Given the description of an element on the screen output the (x, y) to click on. 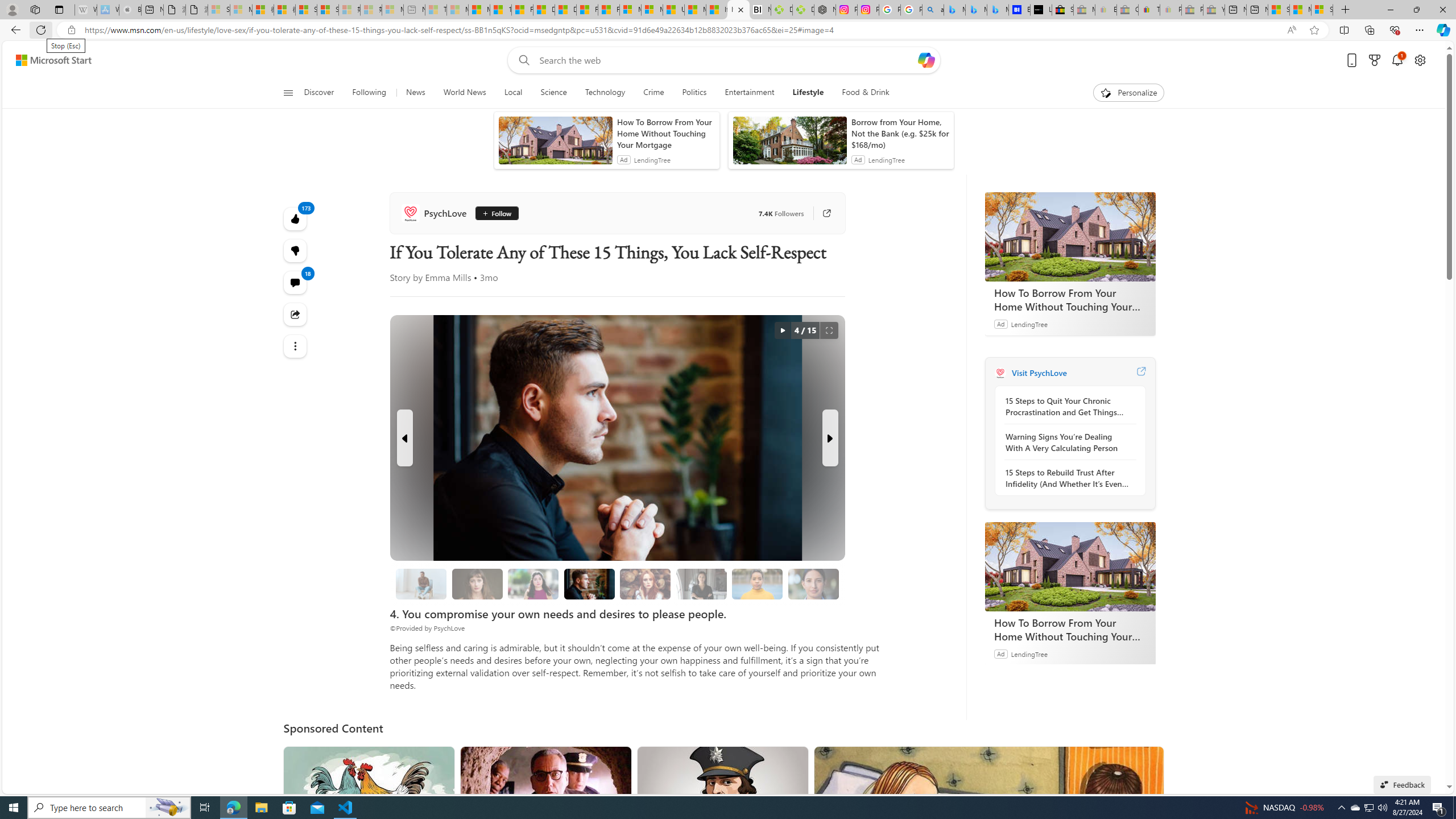
Marine life - MSN - Sleeping (457, 9)
View comments 18 Comment (295, 282)
Threats and offensive language policy | eBay (1149, 9)
autorotate button (782, 330)
Nordace - Nordace Edin Collection (824, 9)
4. You can name and understand your feelings. (533, 583)
Food and Drink - MSN (522, 9)
